Given the description of an element on the screen output the (x, y) to click on. 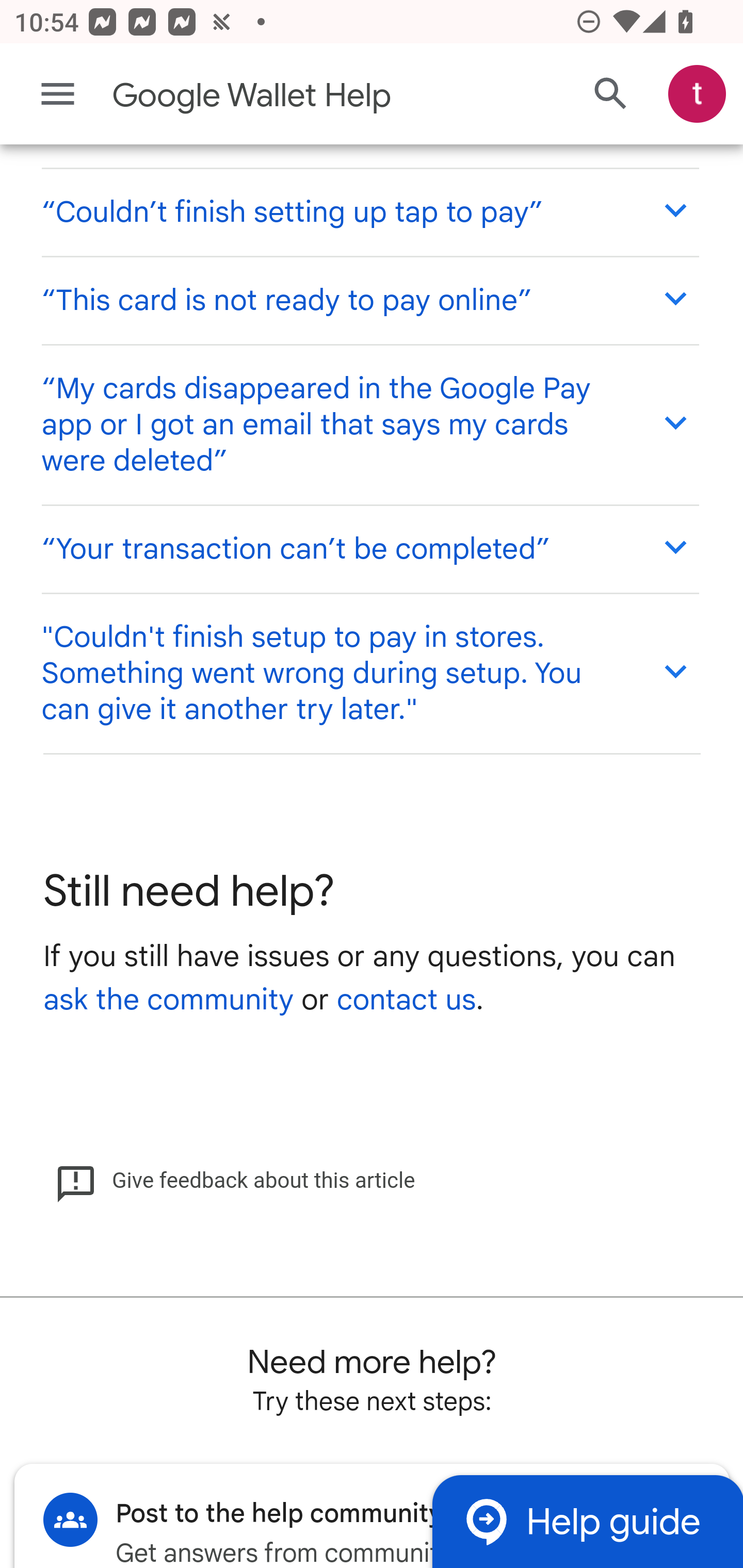
Main menu (58, 94)
Google Wallet Help (292, 96)
Search Help Center (611, 94)
“Couldn’t finish setting up tap to pay” (369, 212)
“This card is not ready to pay online” (369, 300)
“Your transaction can’t be completed” (369, 549)
ask the community (168, 1001)
contact us (406, 1001)
Give feedback about this article (235, 1182)
Help guide (587, 1522)
